Given the description of an element on the screen output the (x, y) to click on. 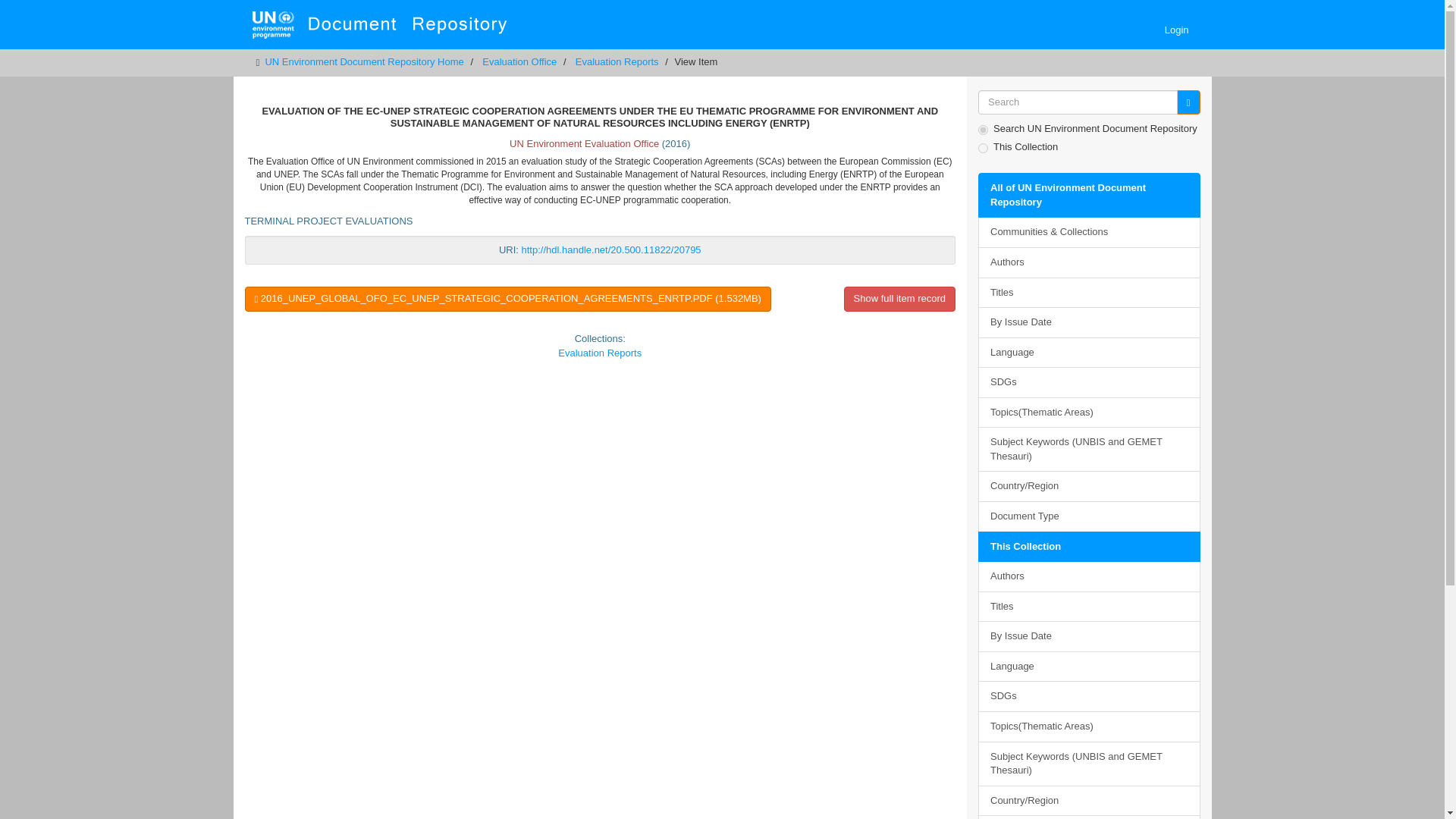
Evaluation Office (518, 61)
Document Type (1088, 816)
All of UN Environment Document Repository (1088, 194)
Show full item record (899, 299)
By Issue Date (1088, 635)
SDGs (1088, 382)
SDGs (1088, 695)
Titles (1088, 606)
By Issue Date (1088, 322)
Authors (1088, 576)
UN Environment Document Repository Home (363, 61)
Evaluation Reports (599, 352)
Titles (1088, 292)
Authors (1088, 262)
Login (1176, 30)
